Given the description of an element on the screen output the (x, y) to click on. 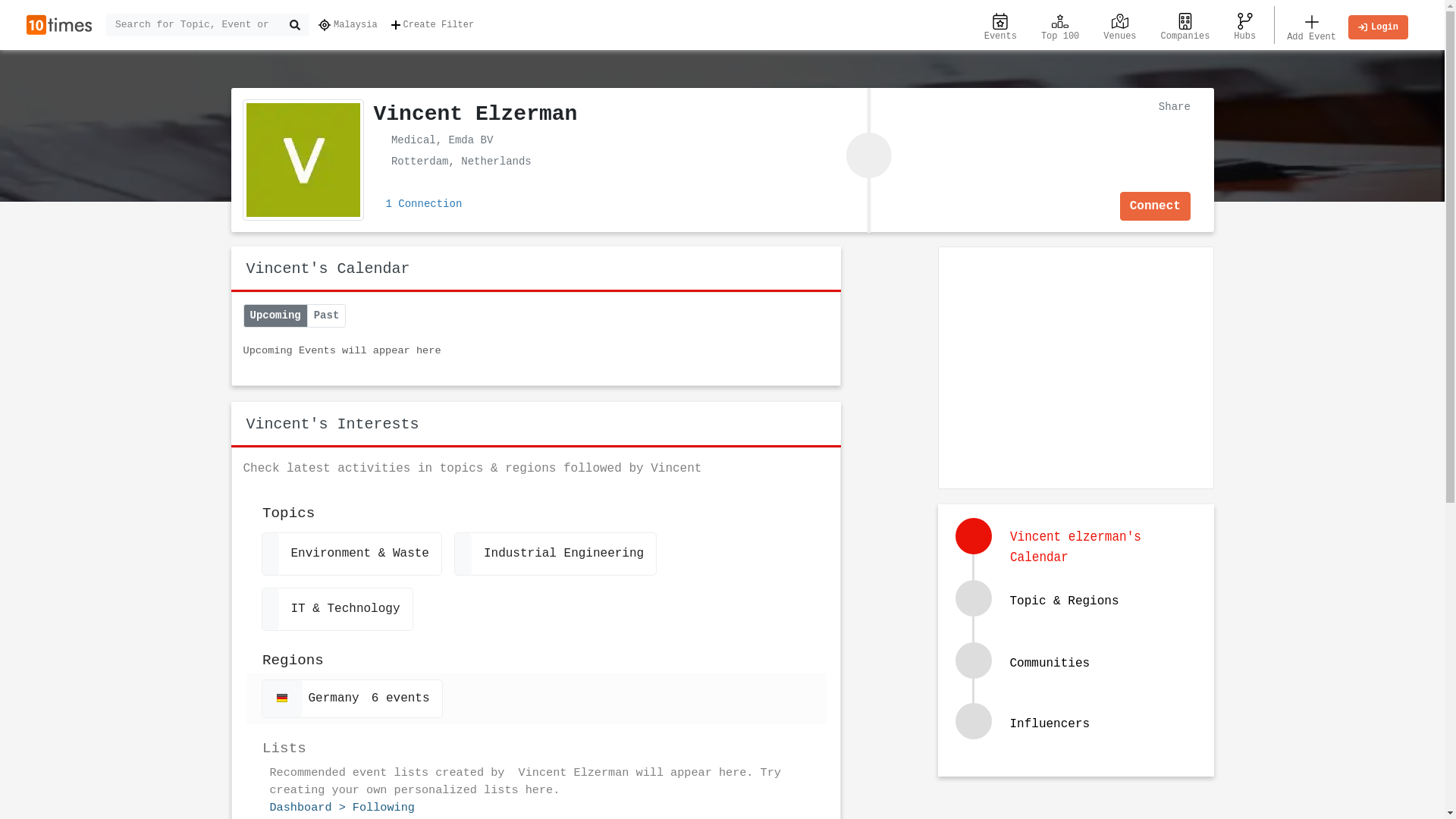
Login Element type: text (1378, 27)
Add Event Element type: text (1311, 24)
Upcoming Element type: text (274, 315)
Communities Element type: text (1050, 663)
Influencers Element type: text (1050, 724)
Topics Element type: text (535, 507)
IT & Technology Element type: text (336, 608)
Dashboard > Following Element type: text (341, 807)
Lists Element type: text (535, 742)
Regions Element type: text (535, 655)
Advertisement Element type: hover (1075, 364)
Influencers Element type: text (1078, 733)
Vincent elzerman's Calendar Element type: text (1096, 545)
Germany
6 events Element type: text (351, 698)
Hubs Element type: text (1244, 24)
Topic & Regions Element type: text (1064, 601)
Companies Element type: text (1185, 24)
Vincent elzerman's Calendar Element type: text (1078, 554)
Topic & Regions Element type: text (1078, 616)
Communities Element type: text (1078, 678)
Industrial Engineering Element type: text (555, 553)
Events Element type: text (1000, 24)
Environment & Waste Element type: text (350, 553)
Share Element type: text (1170, 106)
Germany Element type: hover (282, 698)
Venues Element type: text (1119, 24)
Past Element type: text (326, 315)
Top 100 Element type: text (1060, 24)
Create Filter Element type: text (434, 24)
Connect Element type: text (1155, 205)
